Given the description of an element on the screen output the (x, y) to click on. 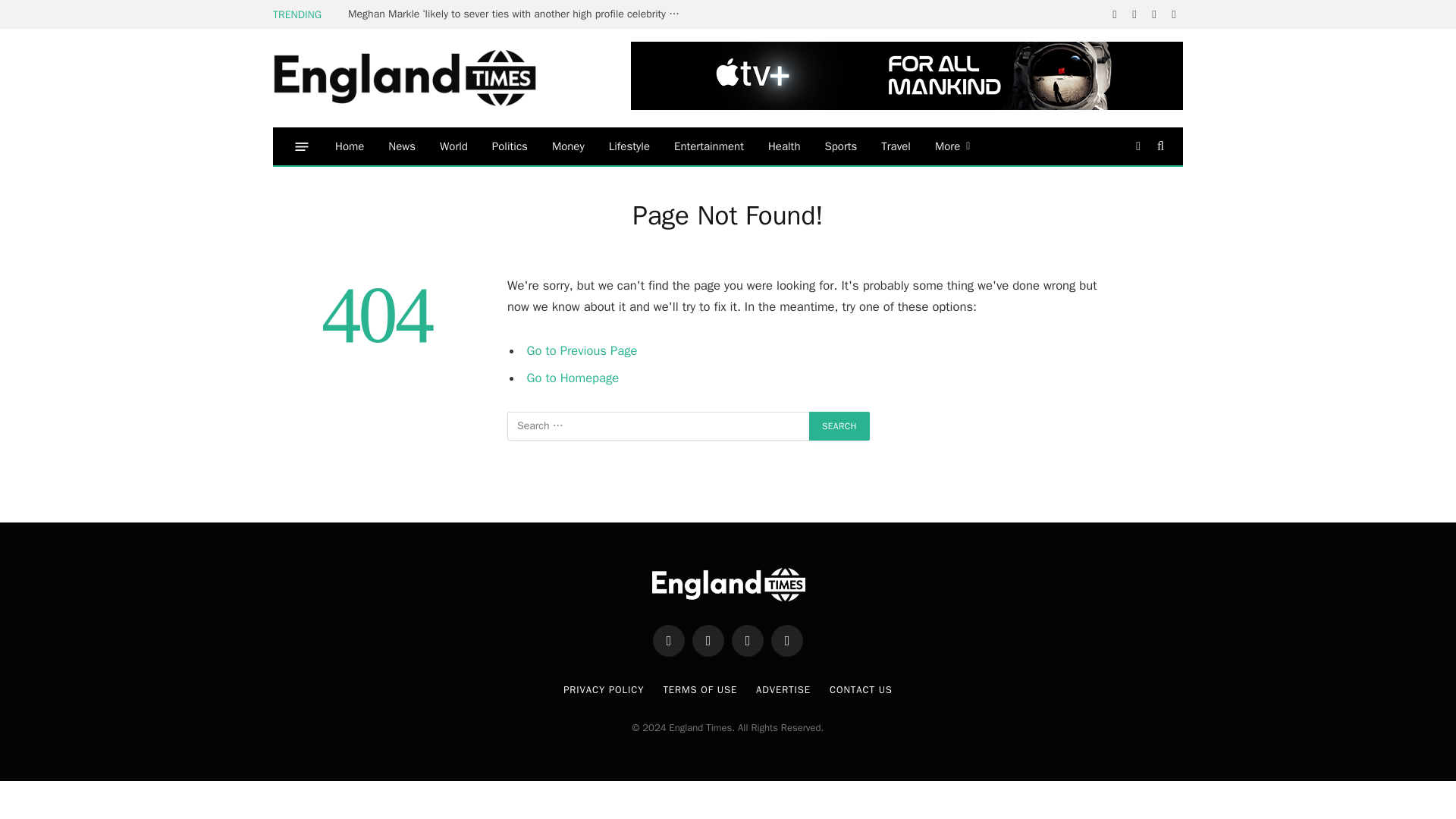
Search (1158, 145)
England Times (428, 78)
Search (839, 425)
Search (839, 425)
Switch to Dark Design - easier on eyes. (1138, 146)
